Given the description of an element on the screen output the (x, y) to click on. 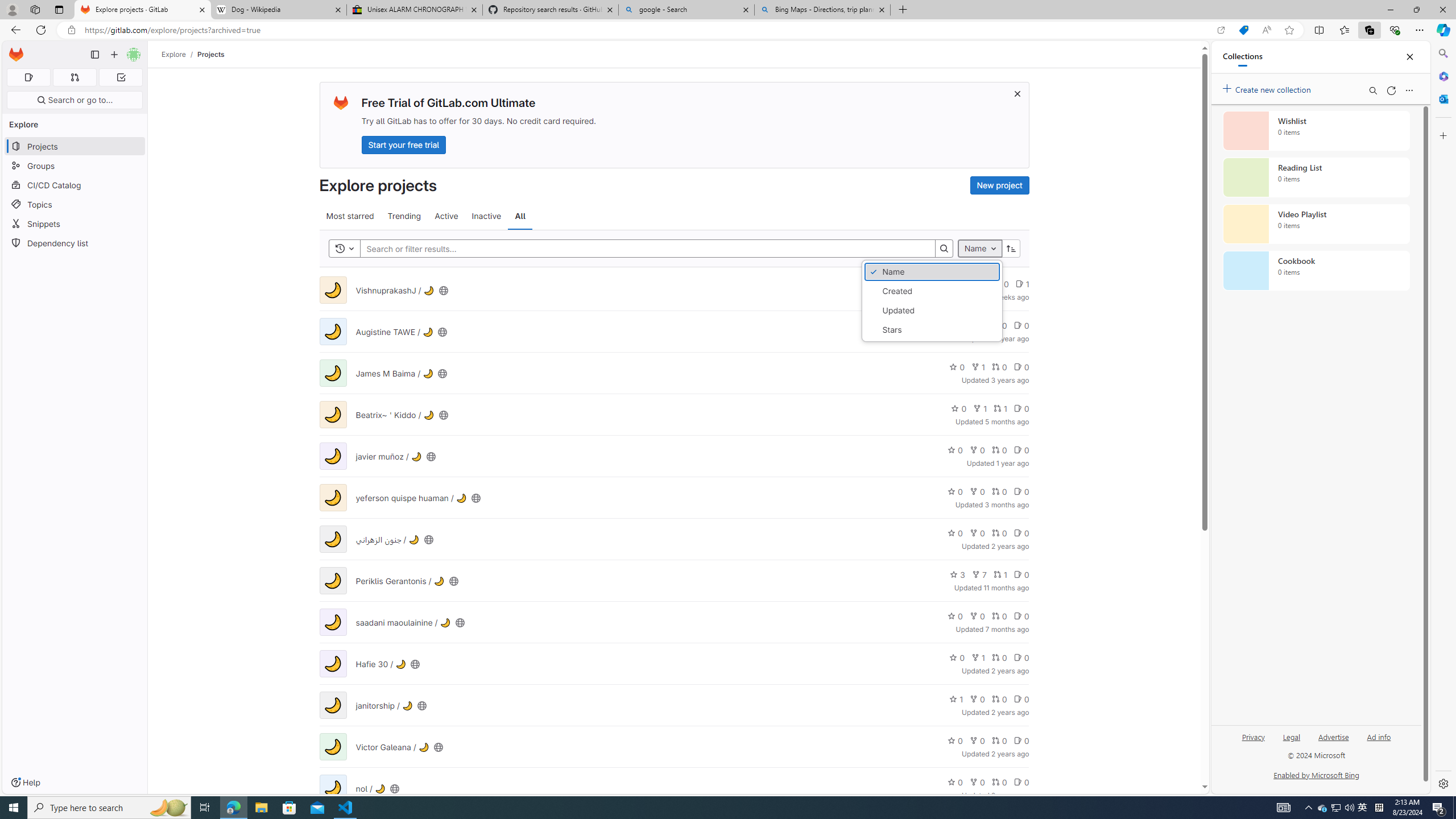
Primary navigation sidebar (94, 54)
Inactive (486, 216)
1 (955, 698)
Groups (74, 165)
Most starred (349, 216)
